Given the description of an element on the screen output the (x, y) to click on. 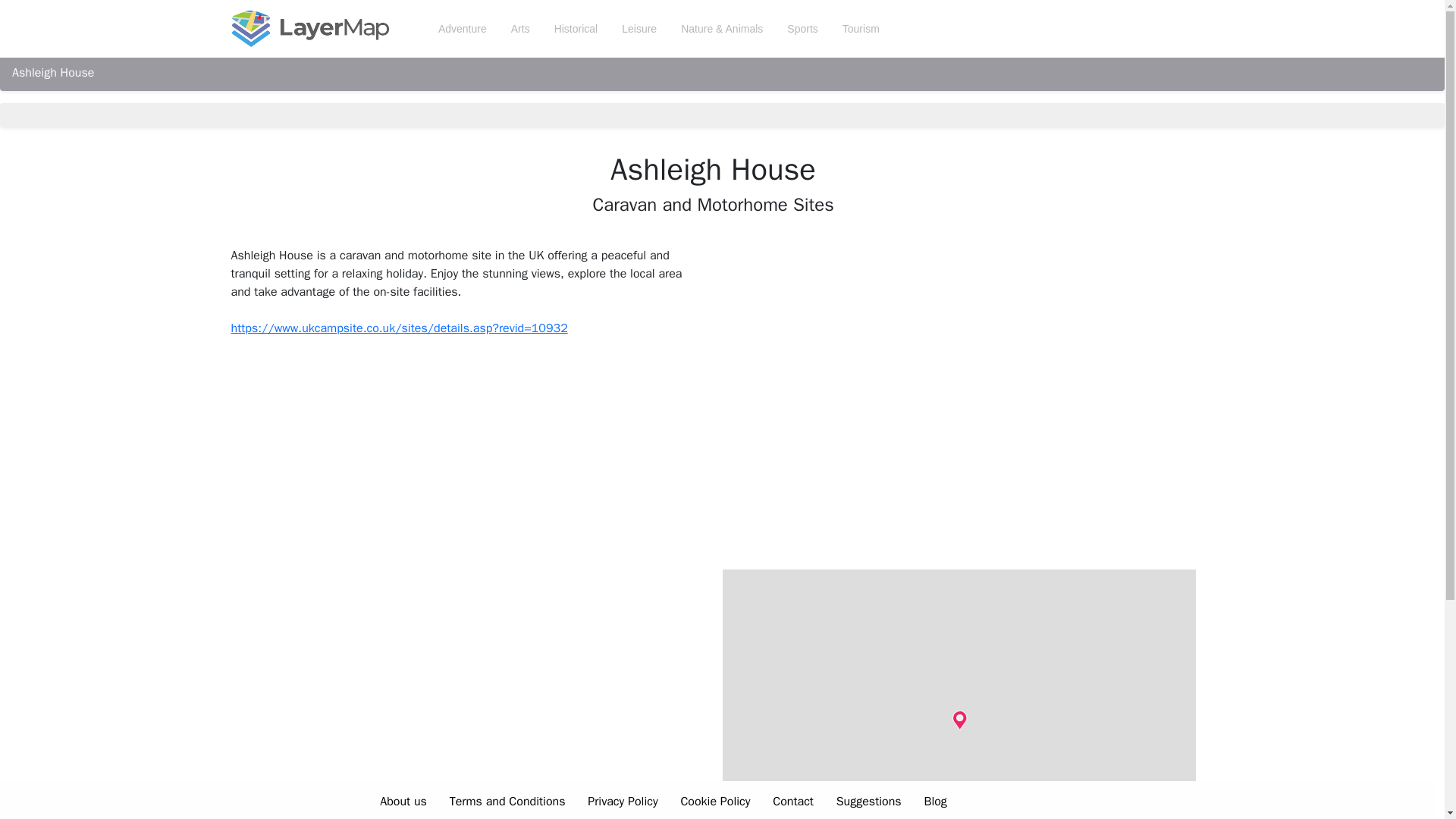
Arts (520, 29)
Leisure (639, 29)
Historical (575, 29)
Adventure (462, 29)
